Given the description of an element on the screen output the (x, y) to click on. 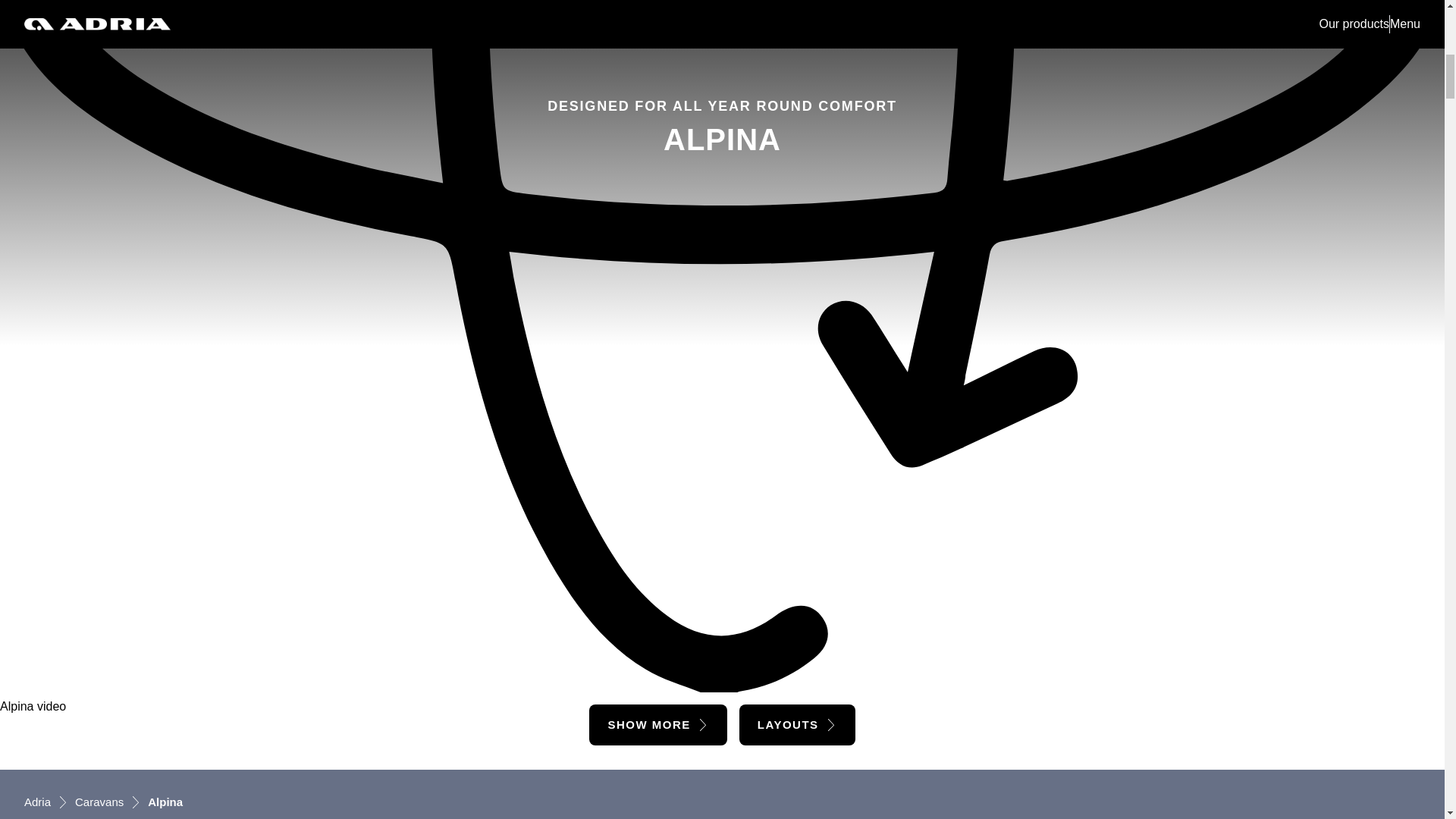
SHOW MORE (657, 724)
Caravans (99, 802)
LAYOUTS (797, 724)
Adria (37, 802)
